Given the description of an element on the screen output the (x, y) to click on. 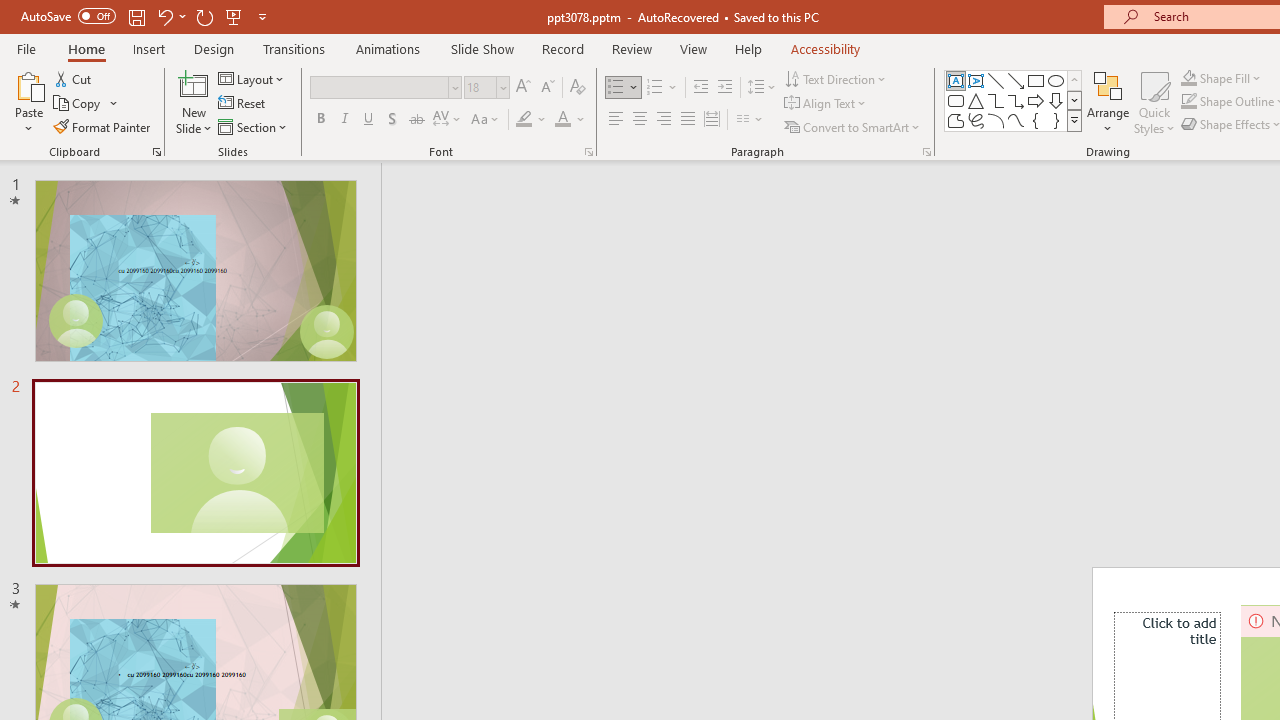
Shape Fill Dark Green, Accent 2 (1188, 78)
